Given the description of an element on the screen output the (x, y) to click on. 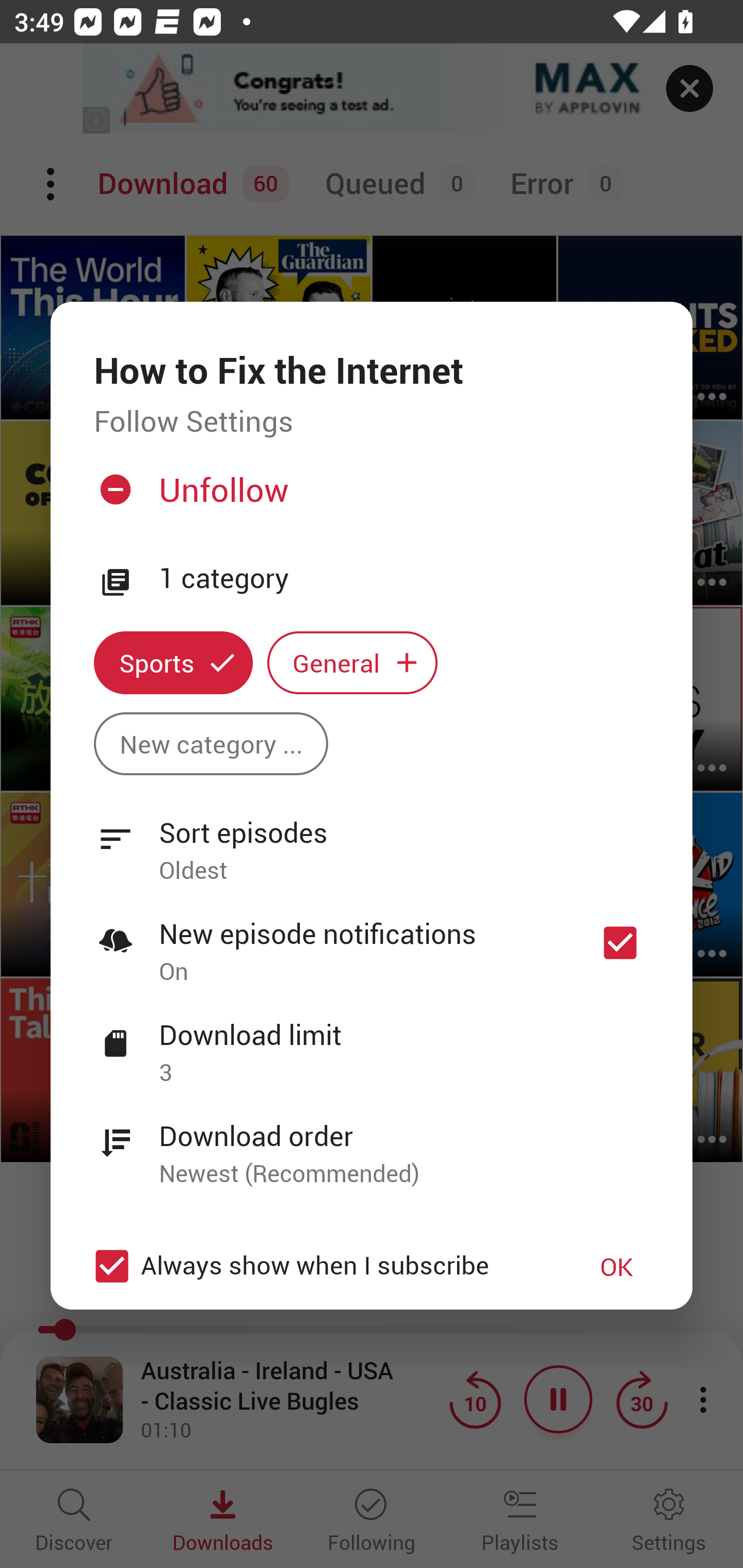
Unfollow (369, 496)
1 category (404, 578)
Sports (172, 662)
General (352, 662)
New category ... (210, 742)
Sort episodes Oldest (371, 840)
New episode notifications (620, 943)
Download limit 3 (371, 1042)
Download order Newest (Recommended) (371, 1143)
OK (616, 1266)
Always show when I subscribe (320, 1266)
